Given the description of an element on the screen output the (x, y) to click on. 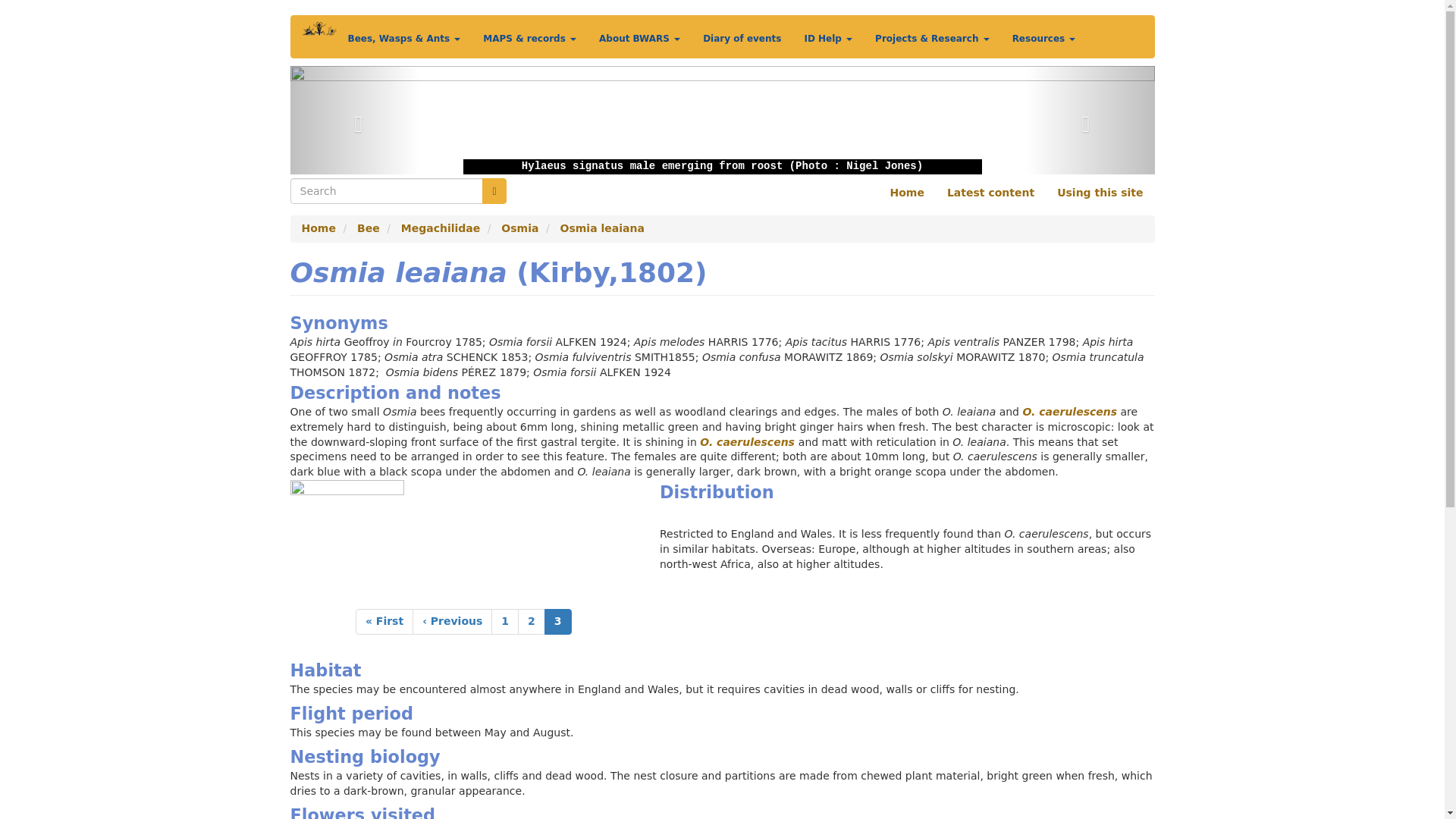
Home (318, 35)
ID Help (827, 38)
About BWARS (639, 38)
Diary of events (741, 38)
